Given the description of an element on the screen output the (x, y) to click on. 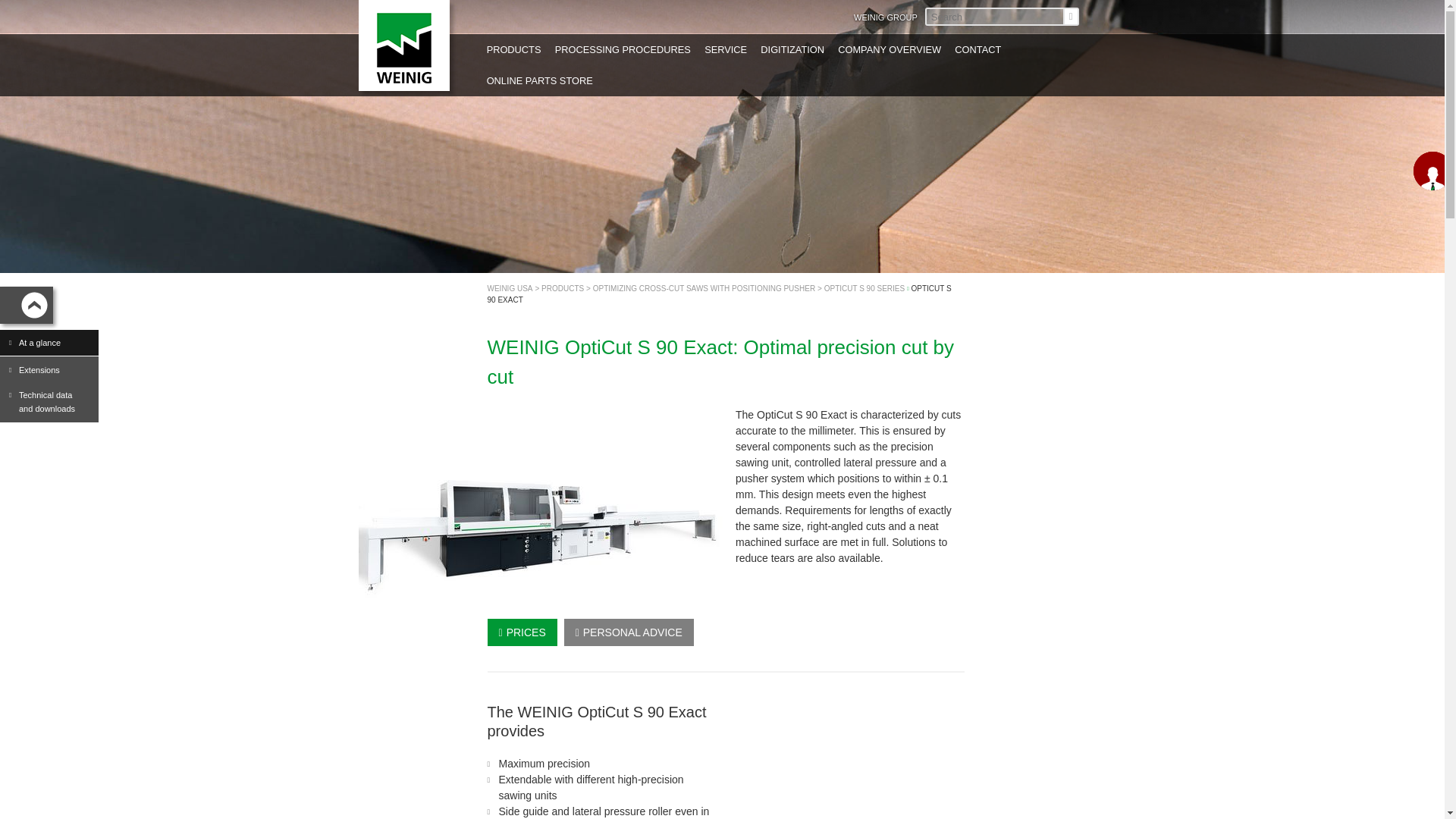
Optimizing cross-cut saws with positioning pusher (703, 287)
OptiCut S 90 series (864, 287)
WEINIG GROUP (885, 17)
WEINIG USA (509, 287)
zur Startseite der Michael Weinig AG (403, 45)
